Given the description of an element on the screen output the (x, y) to click on. 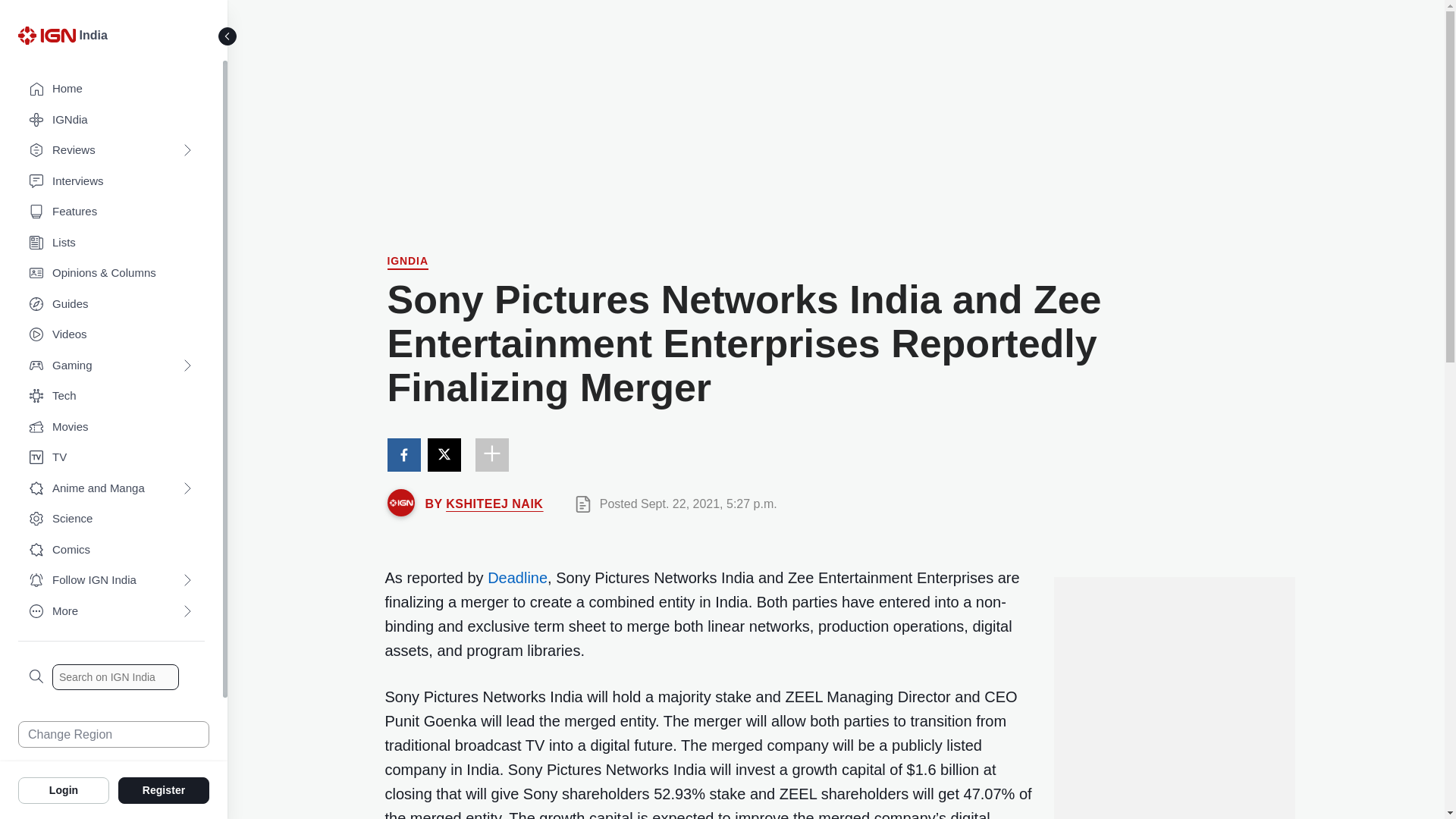
IGNdia (407, 262)
Videos (111, 334)
Movies (111, 427)
More (111, 610)
Lists (111, 242)
Comics (111, 550)
Toggle Sidebar (226, 36)
Tech (111, 396)
Interviews (111, 181)
Guides (111, 304)
Features (111, 211)
Follow IGN India (111, 580)
Science (111, 518)
TV (111, 457)
Anime and Manga (111, 487)
